Given the description of an element on the screen output the (x, y) to click on. 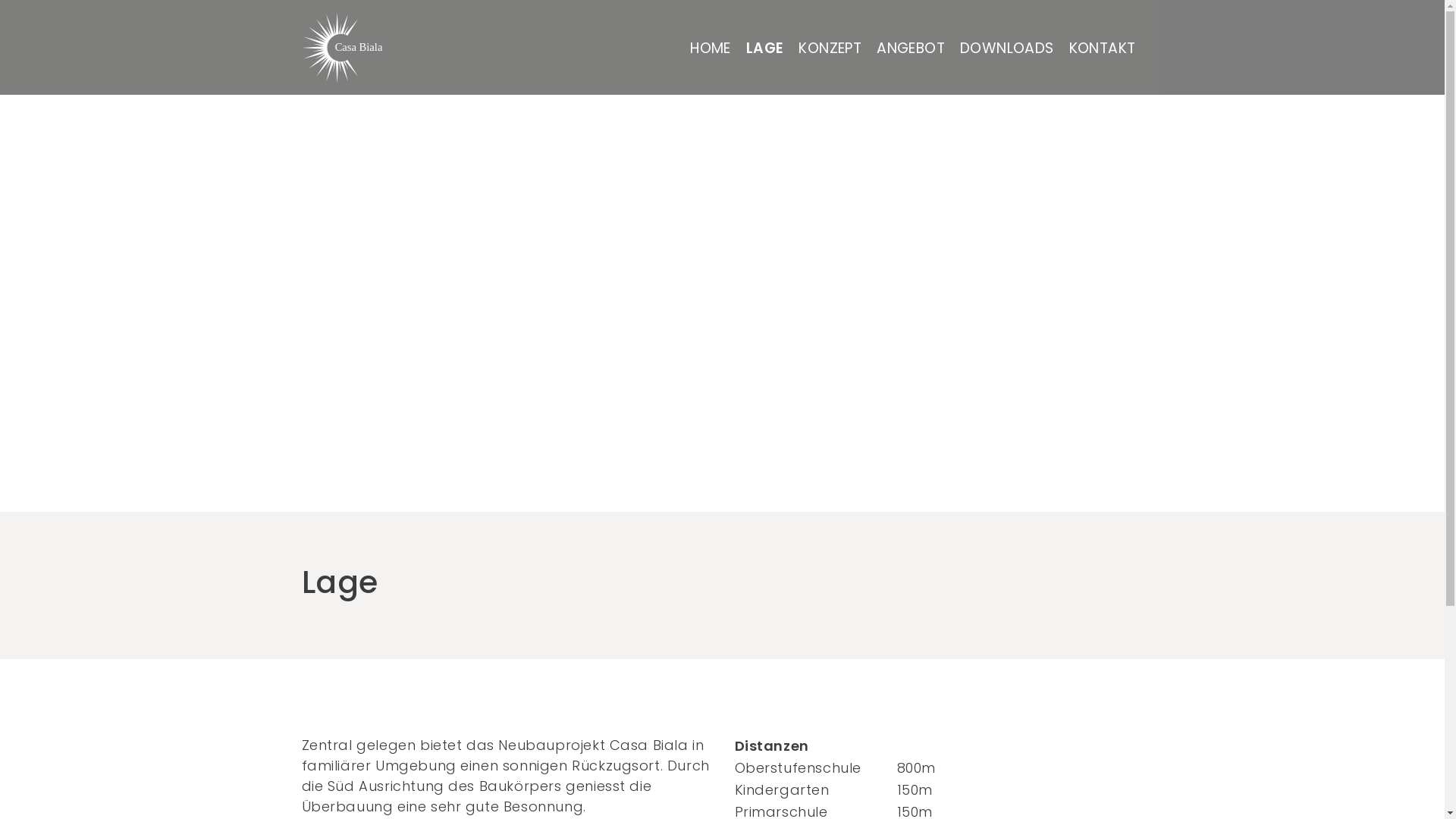
HOME Element type: text (710, 48)
KONTAKT Element type: text (1102, 48)
KONZEPT Element type: text (829, 48)
LAGE Element type: text (765, 48)
ANGEBOT Element type: text (910, 48)
DOWNLOADS Element type: text (1007, 48)
